Given the description of an element on the screen output the (x, y) to click on. 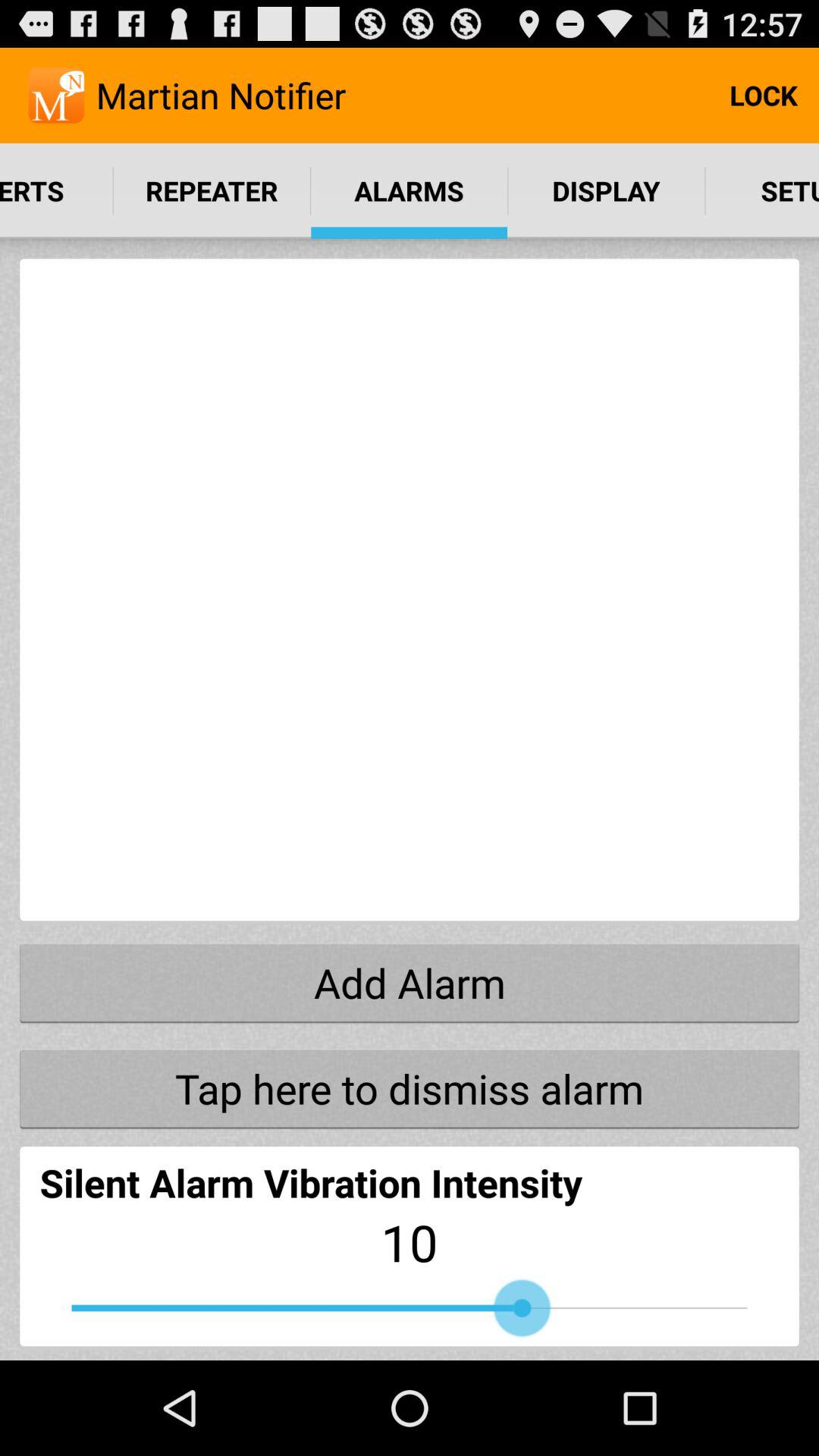
turn on tap here to (409, 1088)
